Given the description of an element on the screen output the (x, y) to click on. 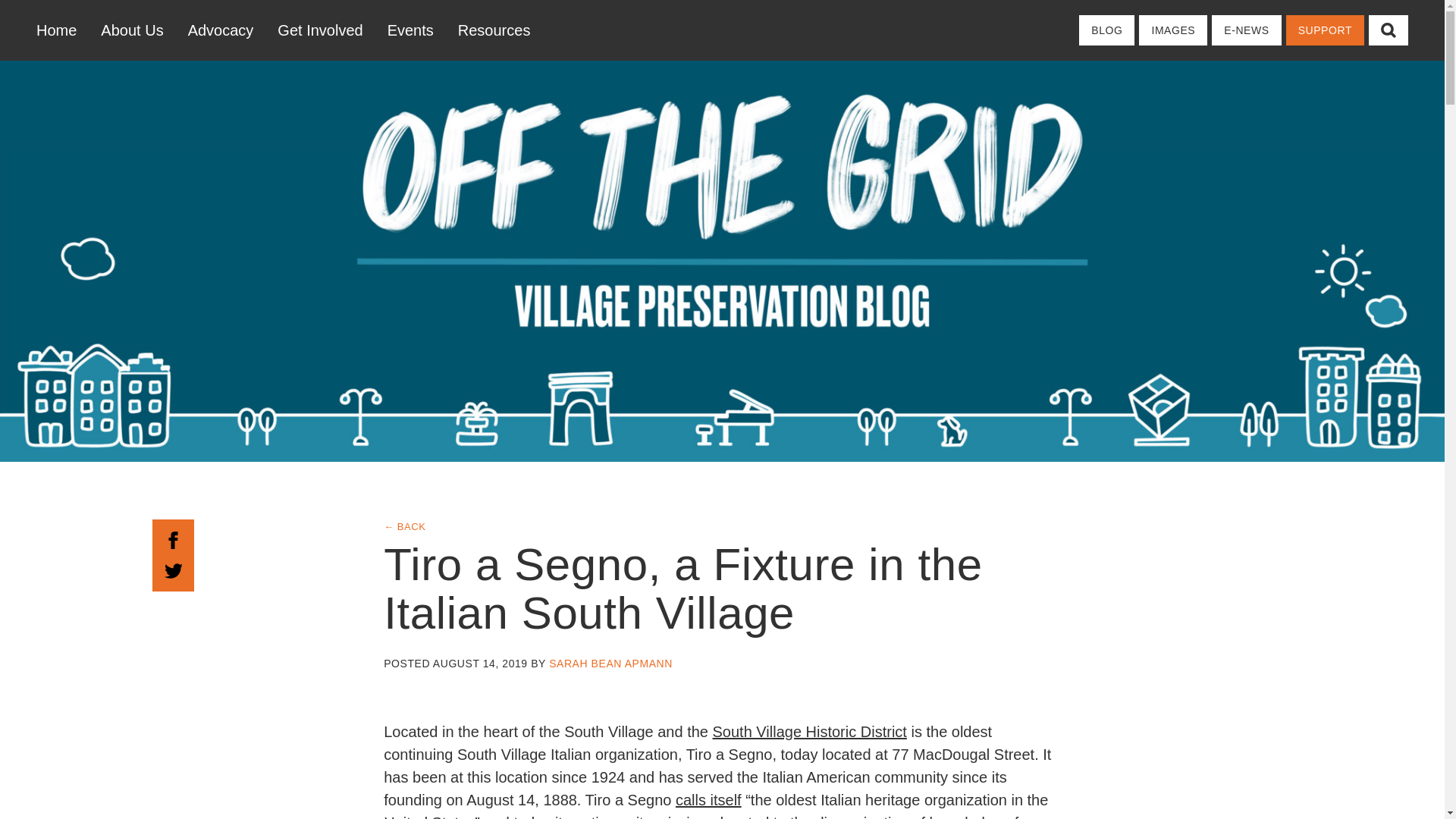
Advocacy (221, 30)
Home (62, 30)
Share on Twitter (173, 568)
Events (410, 30)
Get Involved (319, 30)
About Us (131, 30)
Share on Facebook (173, 538)
